Given the description of an element on the screen output the (x, y) to click on. 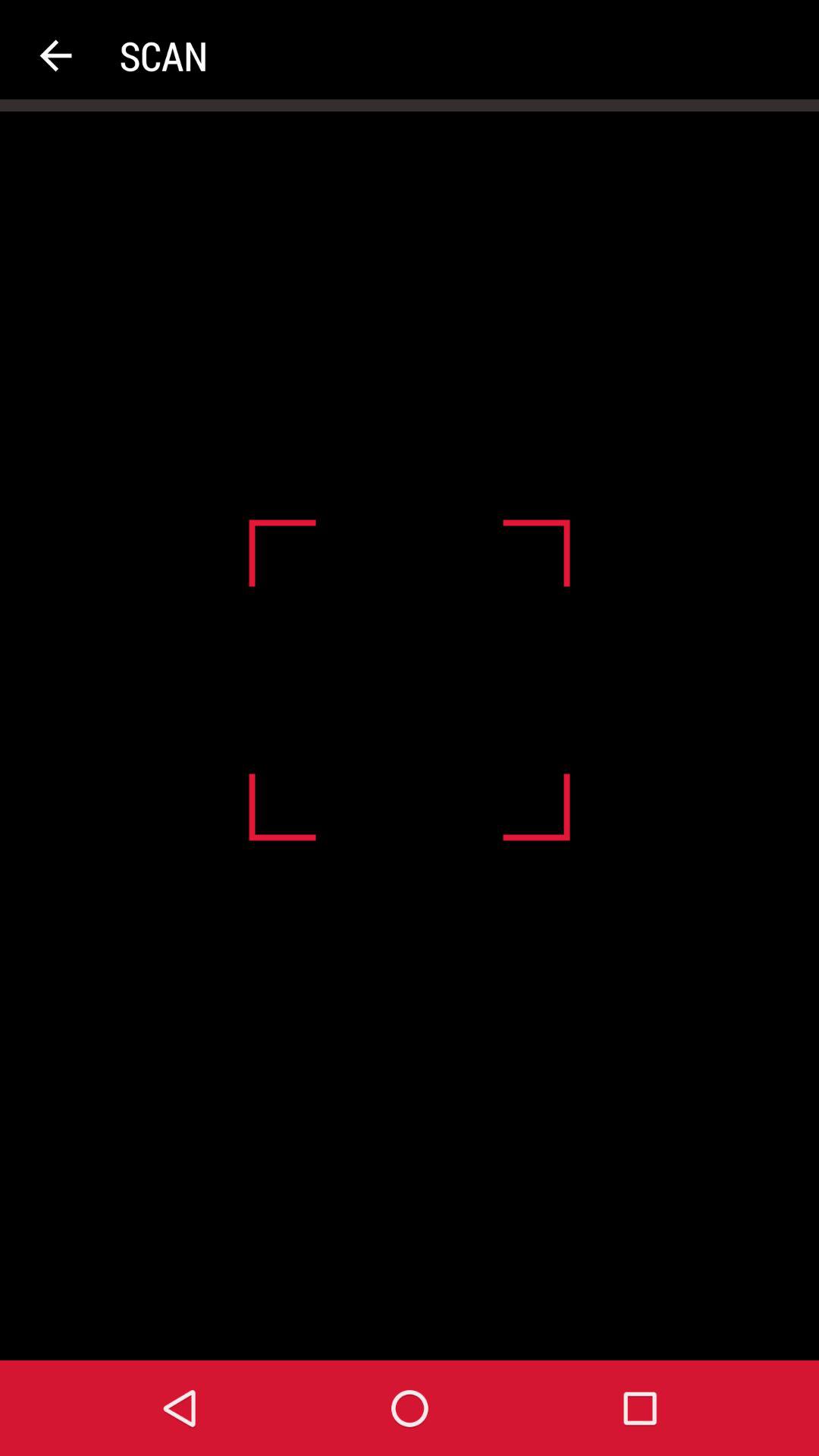
open the item next to scan app (55, 55)
